Given the description of an element on the screen output the (x, y) to click on. 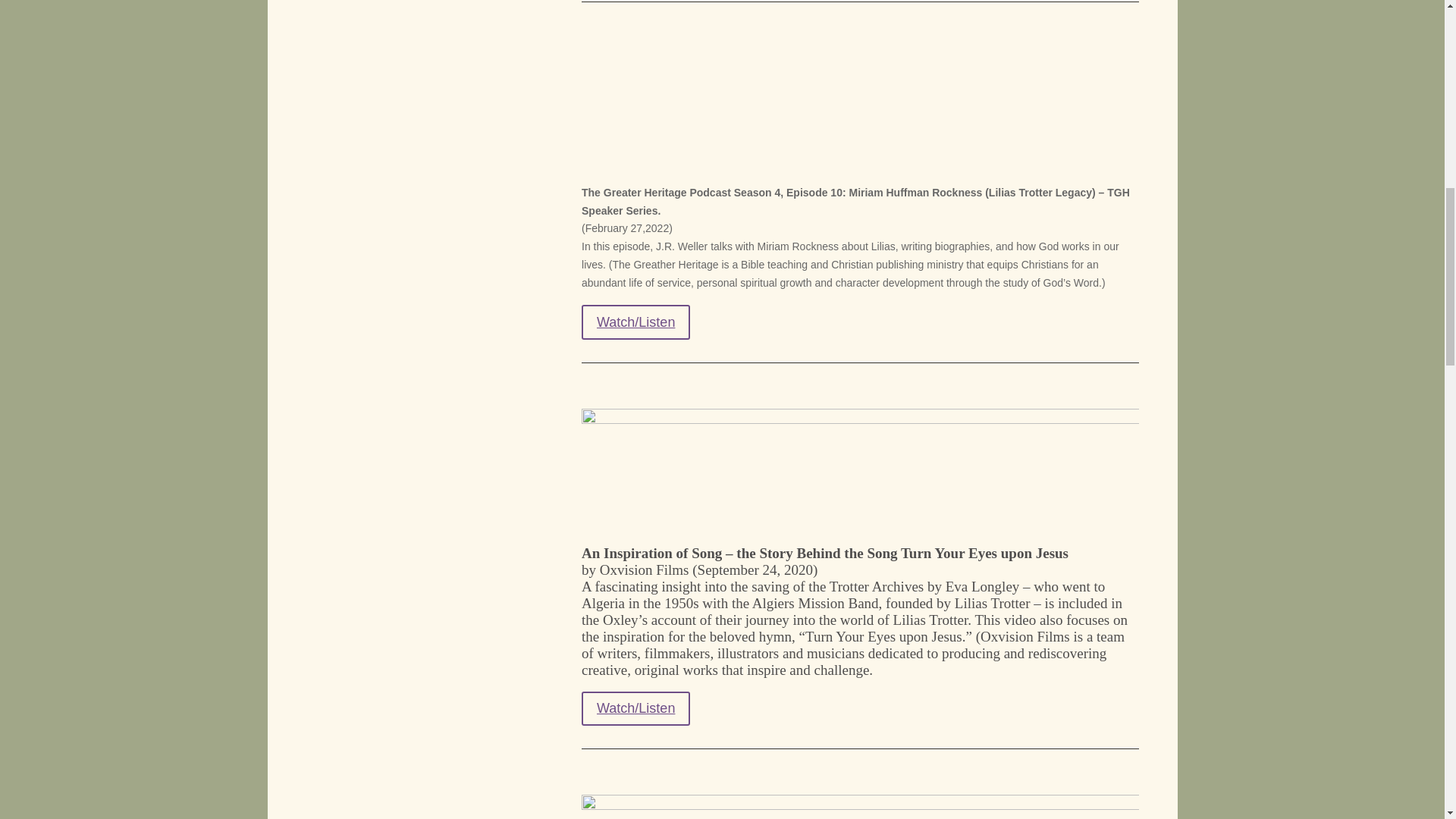
greater-heritage-podcast (859, 109)
Miriam-rockness (859, 806)
inspiration-of-song (859, 470)
